Given the description of an element on the screen output the (x, y) to click on. 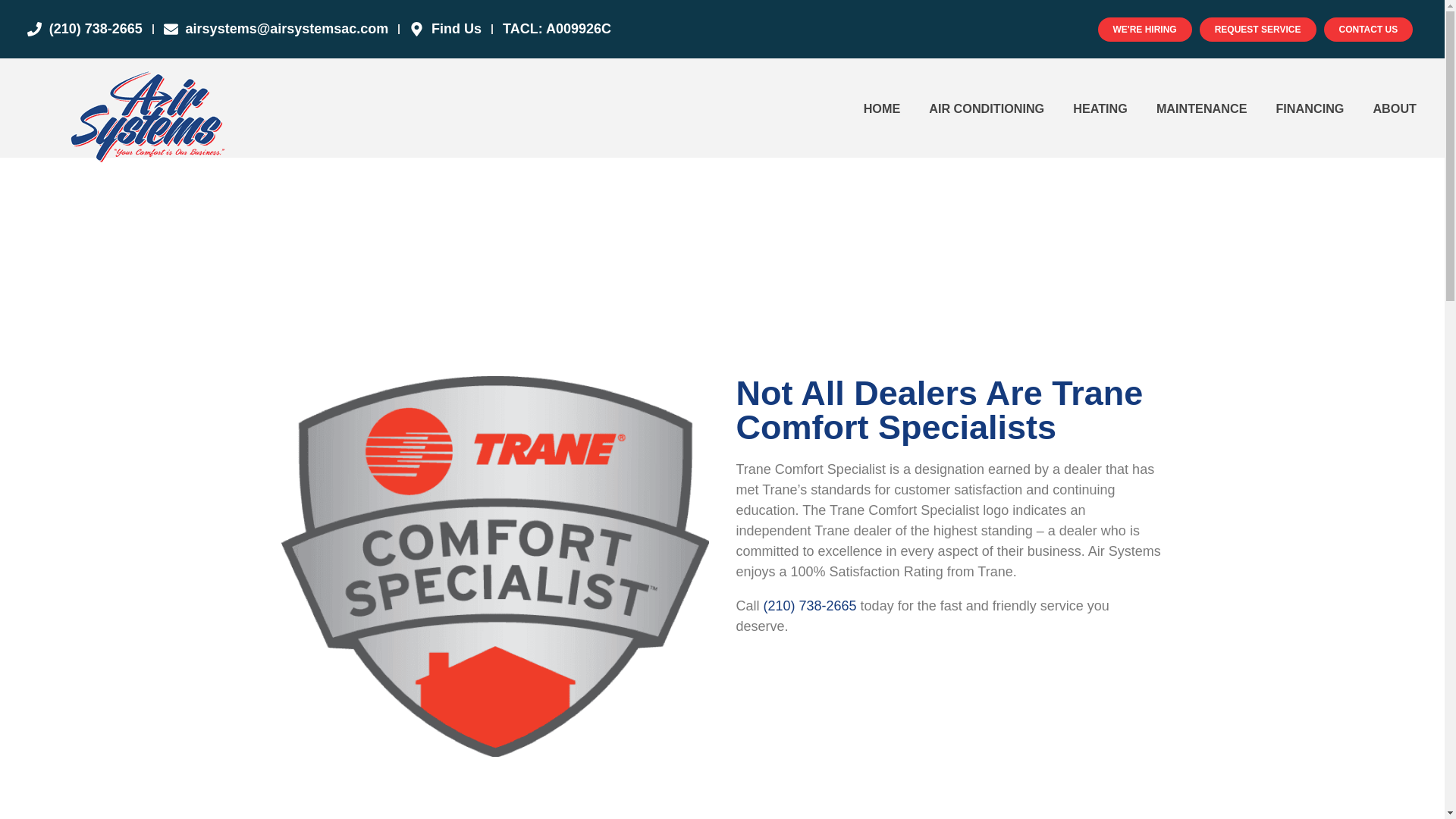
HOME (881, 108)
FINANCING (1309, 108)
Find Us (445, 28)
REQUEST SERVICE (1257, 28)
MAINTENANCE (1201, 108)
WE'RE HIRING (1144, 28)
CONTACT US (1368, 28)
AIR CONDITIONING (986, 108)
HEATING (1099, 108)
ABOUT (1394, 108)
